Given the description of an element on the screen output the (x, y) to click on. 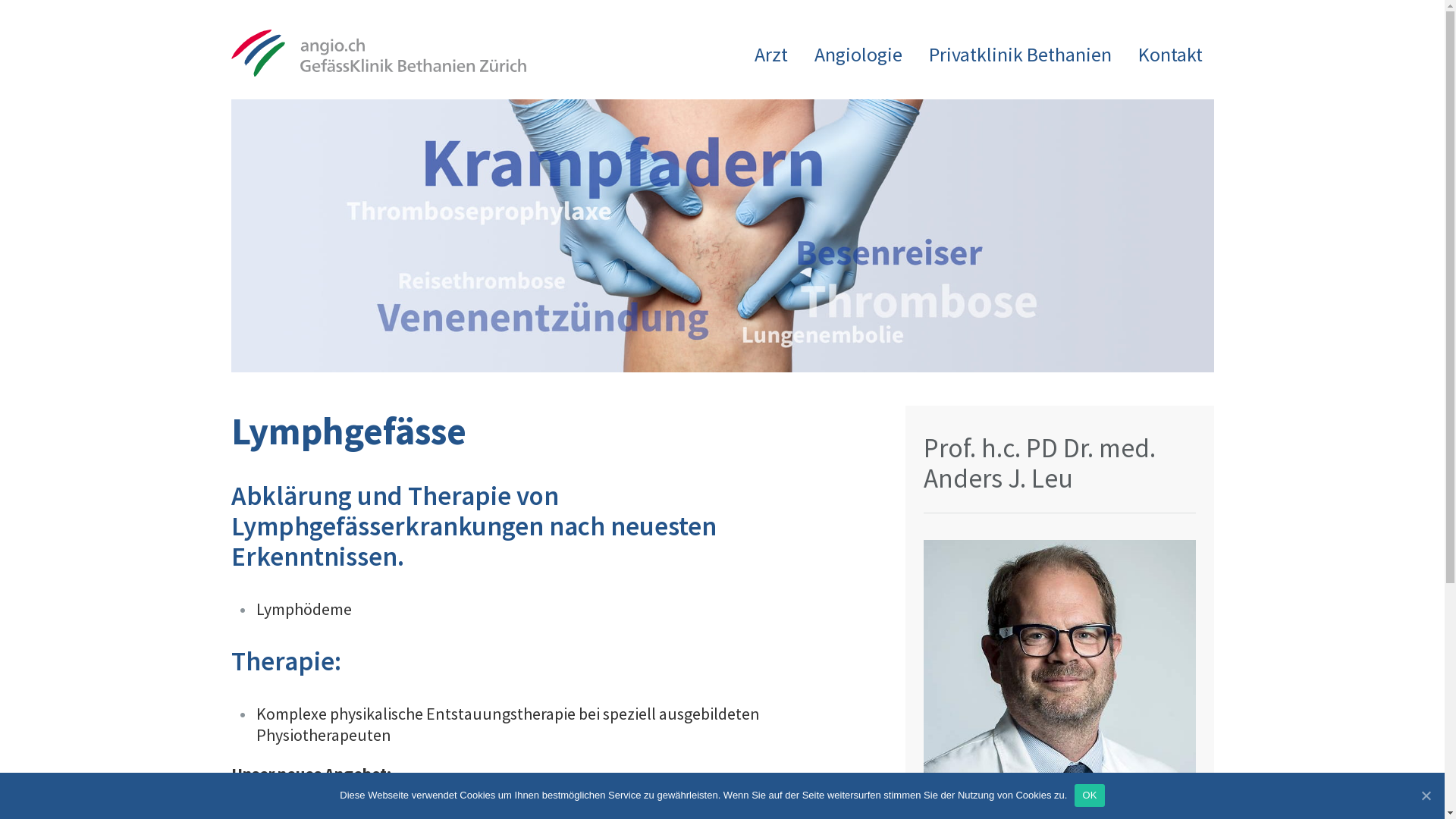
Kontakt Element type: text (1169, 54)
OK Element type: text (1089, 795)
Angiologie Element type: text (858, 54)
Arzt Element type: text (770, 54)
Privatklinik Bethanien Element type: text (1019, 54)
